Given the description of an element on the screen output the (x, y) to click on. 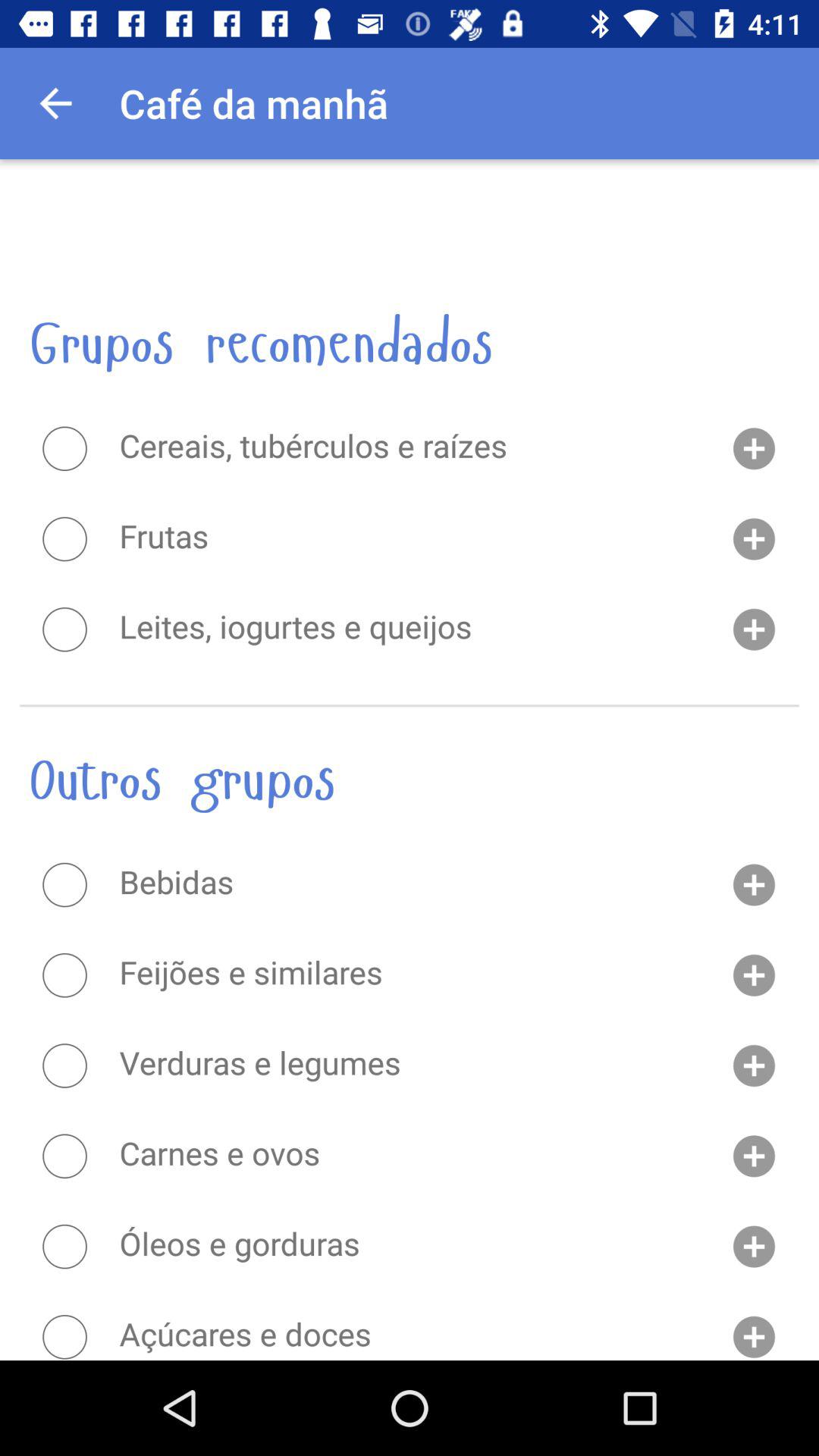
choose vegetables (64, 1065)
